Given the description of an element on the screen output the (x, y) to click on. 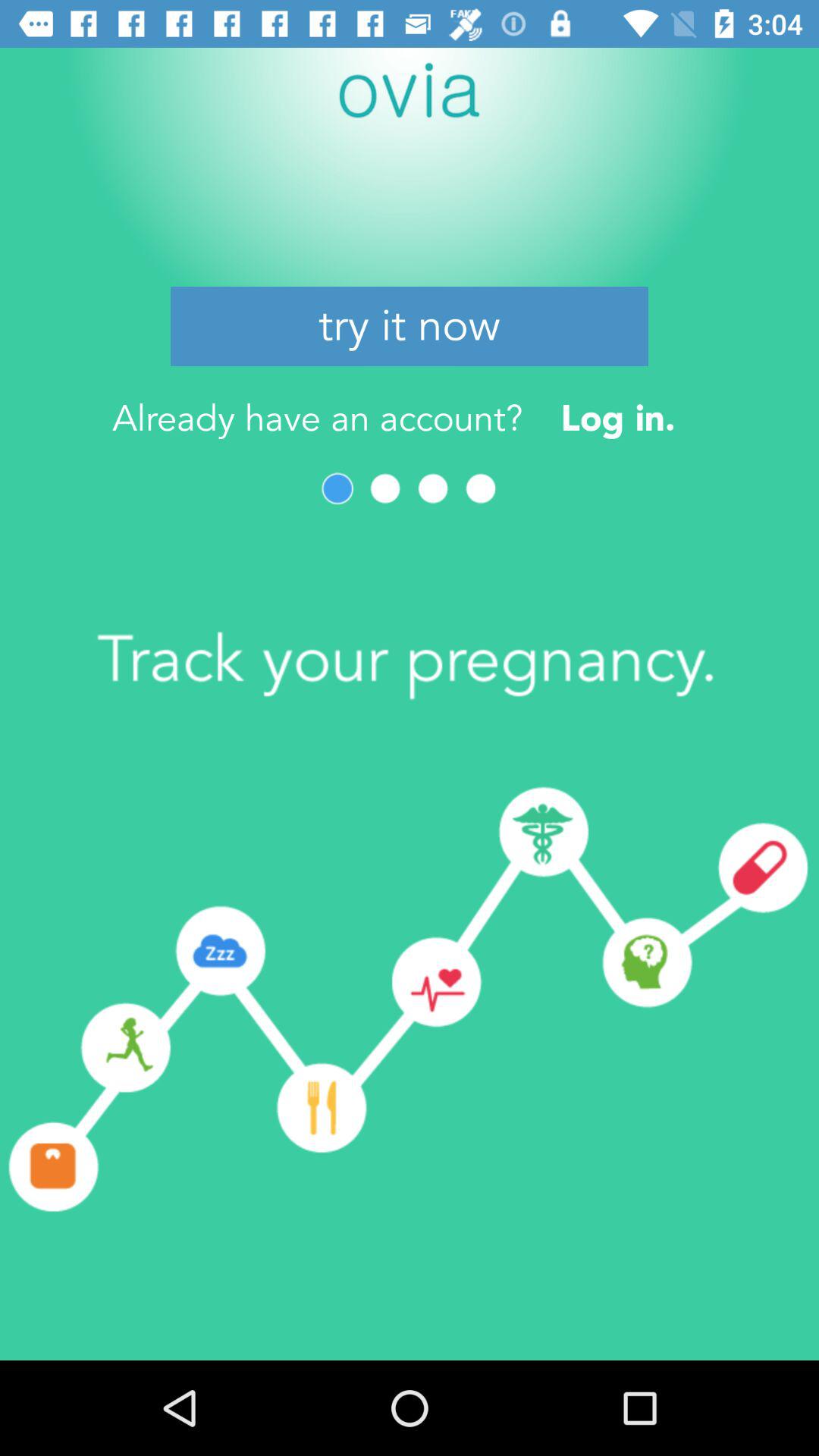
open log in. (617, 417)
